Given the description of an element on the screen output the (x, y) to click on. 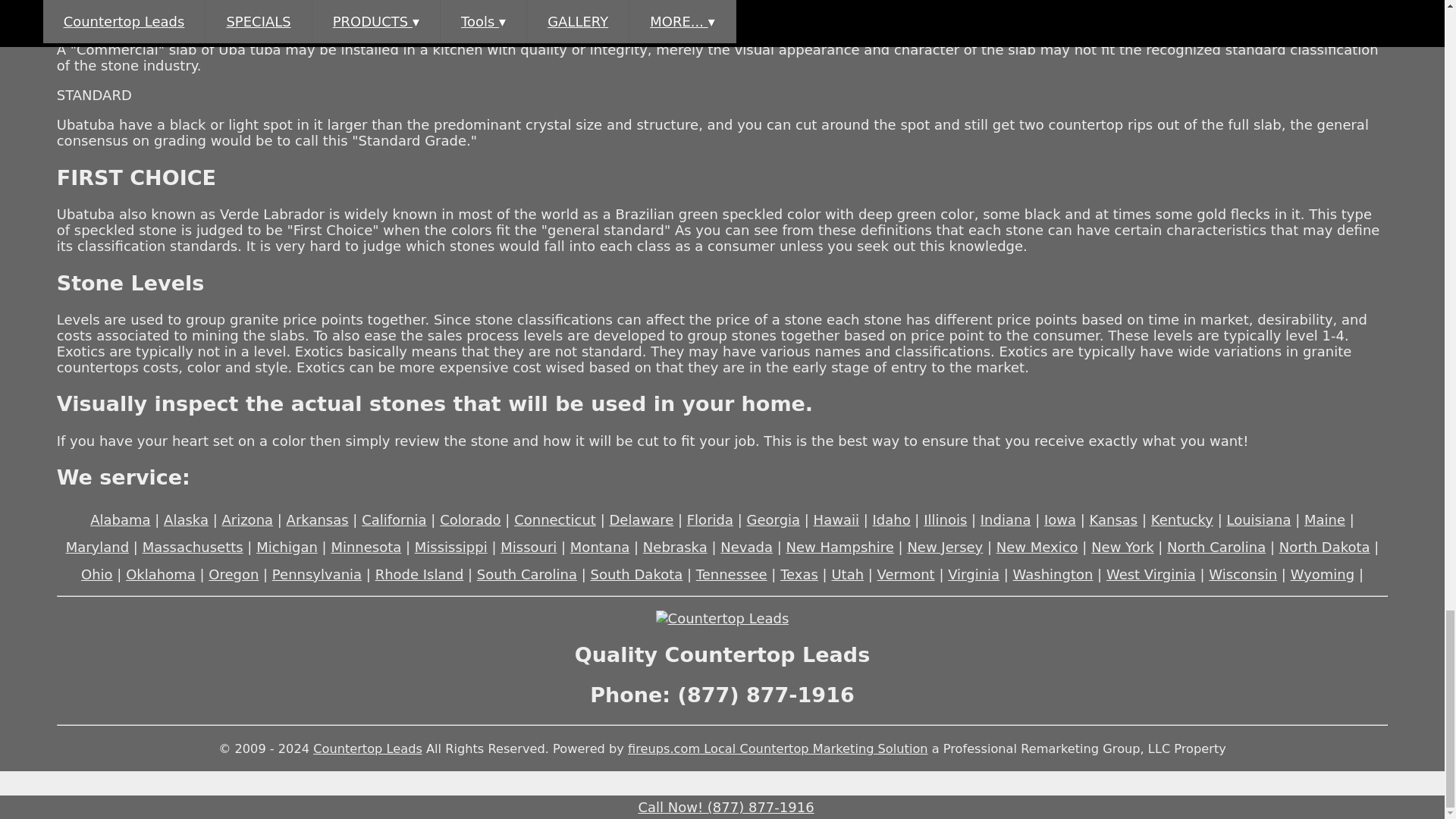
California (393, 519)
Alabama (119, 519)
Arizona (247, 519)
Illinois (944, 519)
Connecticut (554, 519)
Florida (710, 519)
Alaska (185, 519)
Arkansas (317, 519)
Georgia (773, 519)
Delaware (640, 519)
Idaho (891, 519)
Hawaii (836, 519)
Colorado (469, 519)
